Given the description of an element on the screen output the (x, y) to click on. 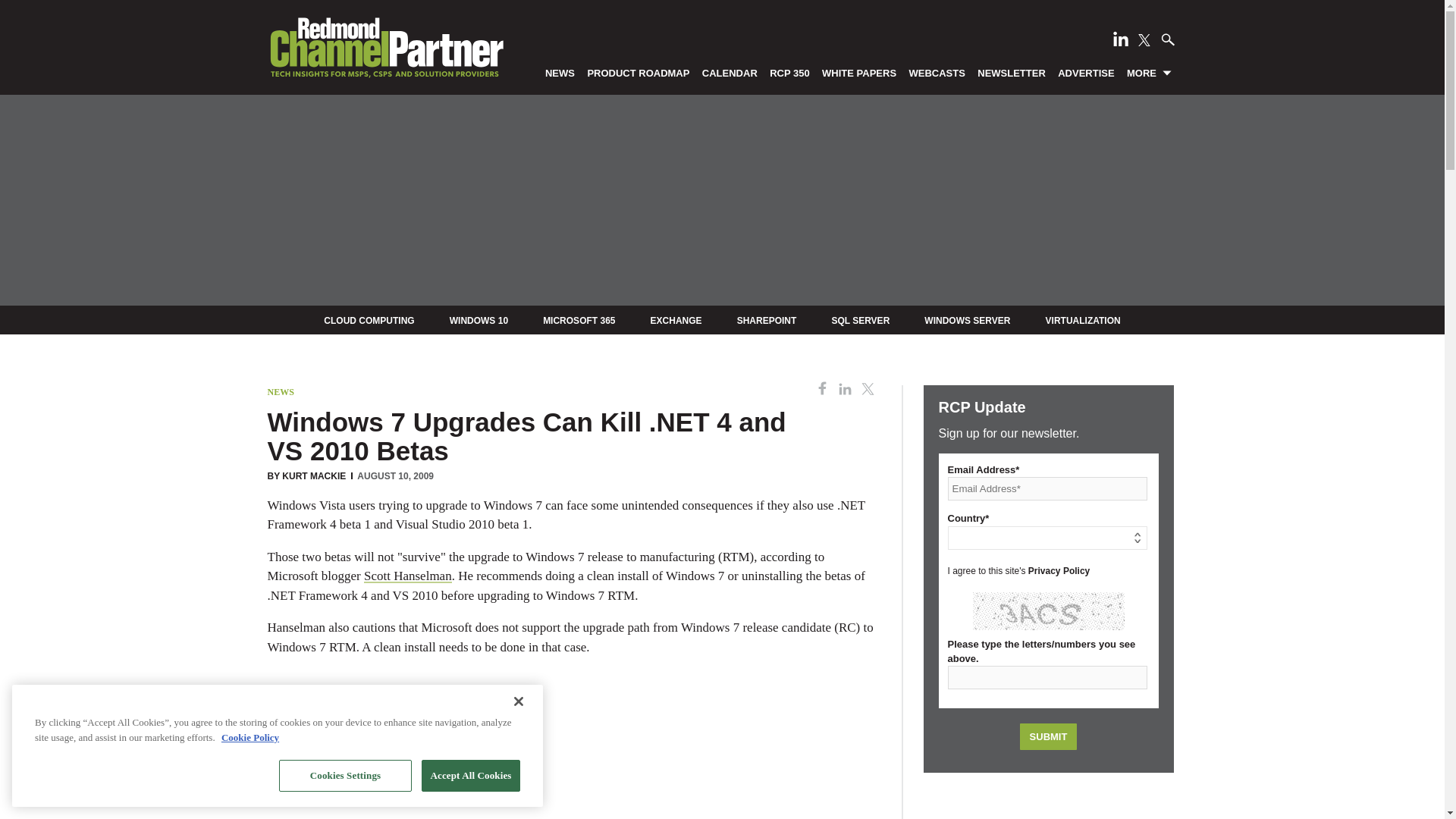
VIRTUALIZATION (1083, 320)
ADVERTISE (1085, 72)
PRODUCT ROADMAP (638, 72)
Submit (1048, 736)
WINDOWS SERVER (967, 320)
Scott Hanselman (407, 575)
CLOUD COMPUTING (368, 320)
WHITE PAPERS (858, 72)
NEWS (280, 391)
3rd party ad content (1047, 803)
RCP 350 (790, 72)
NEWSLETTER (1011, 72)
SHAREPOINT (766, 320)
EXCHANGE (675, 320)
